Given the description of an element on the screen output the (x, y) to click on. 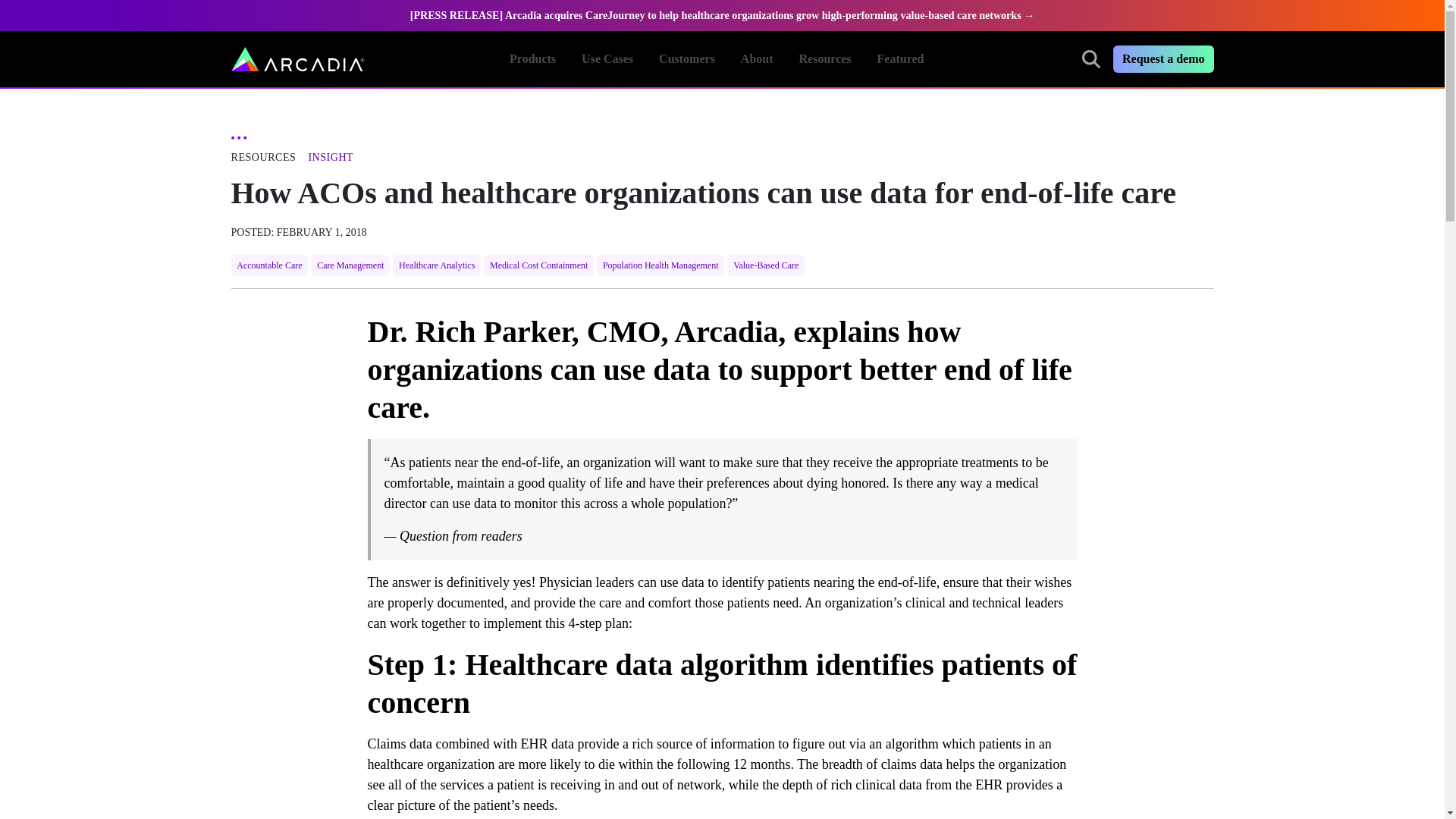
Use Cases (607, 58)
Home (738, 59)
Open search (297, 58)
About (1090, 58)
Products (757, 58)
Customers (532, 58)
